Given the description of an element on the screen output the (x, y) to click on. 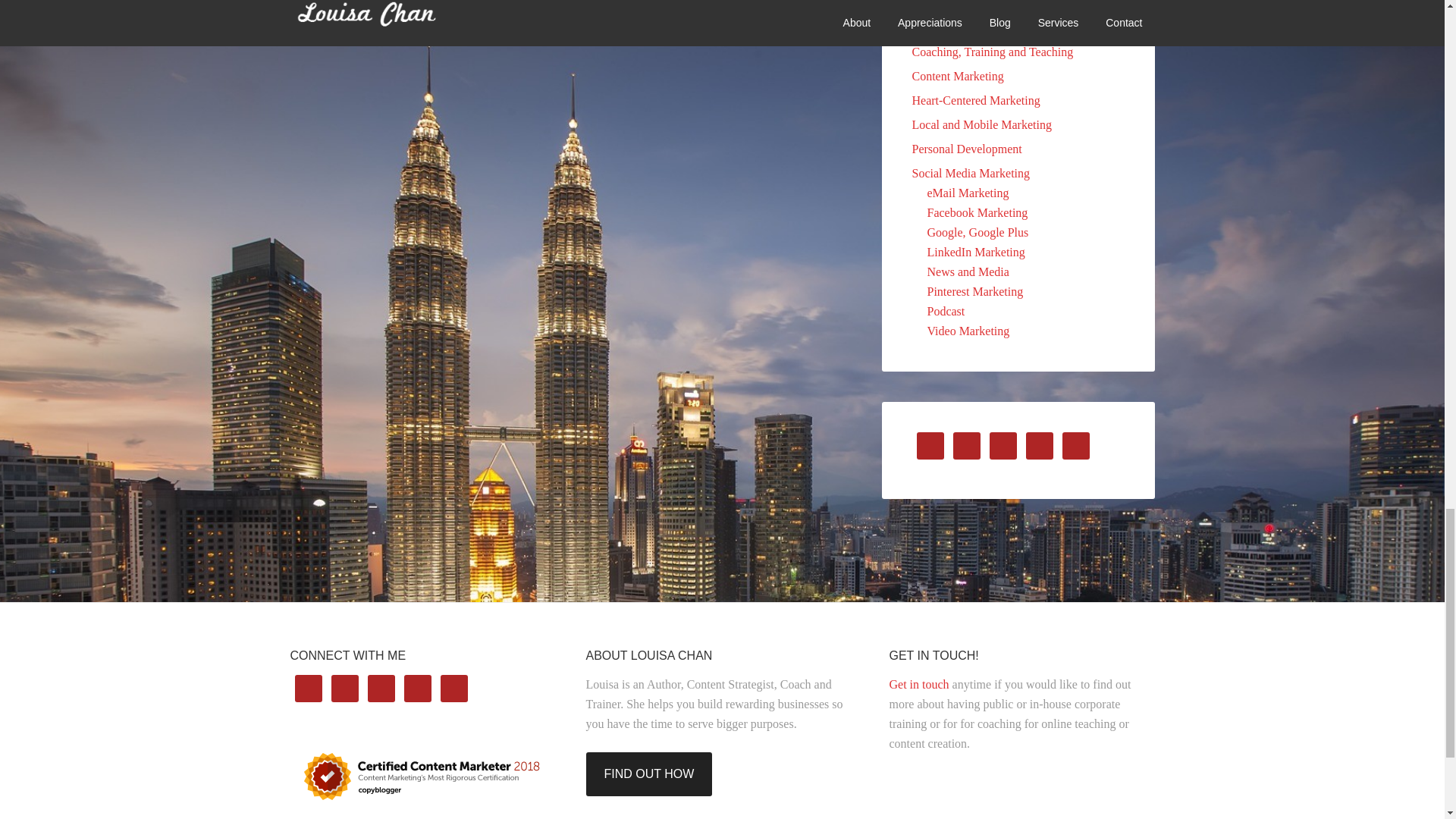
Weekend Reflection (975, 27)
Tutorial (945, 7)
Coaching, Training and Teaching (992, 51)
